Given the description of an element on the screen output the (x, y) to click on. 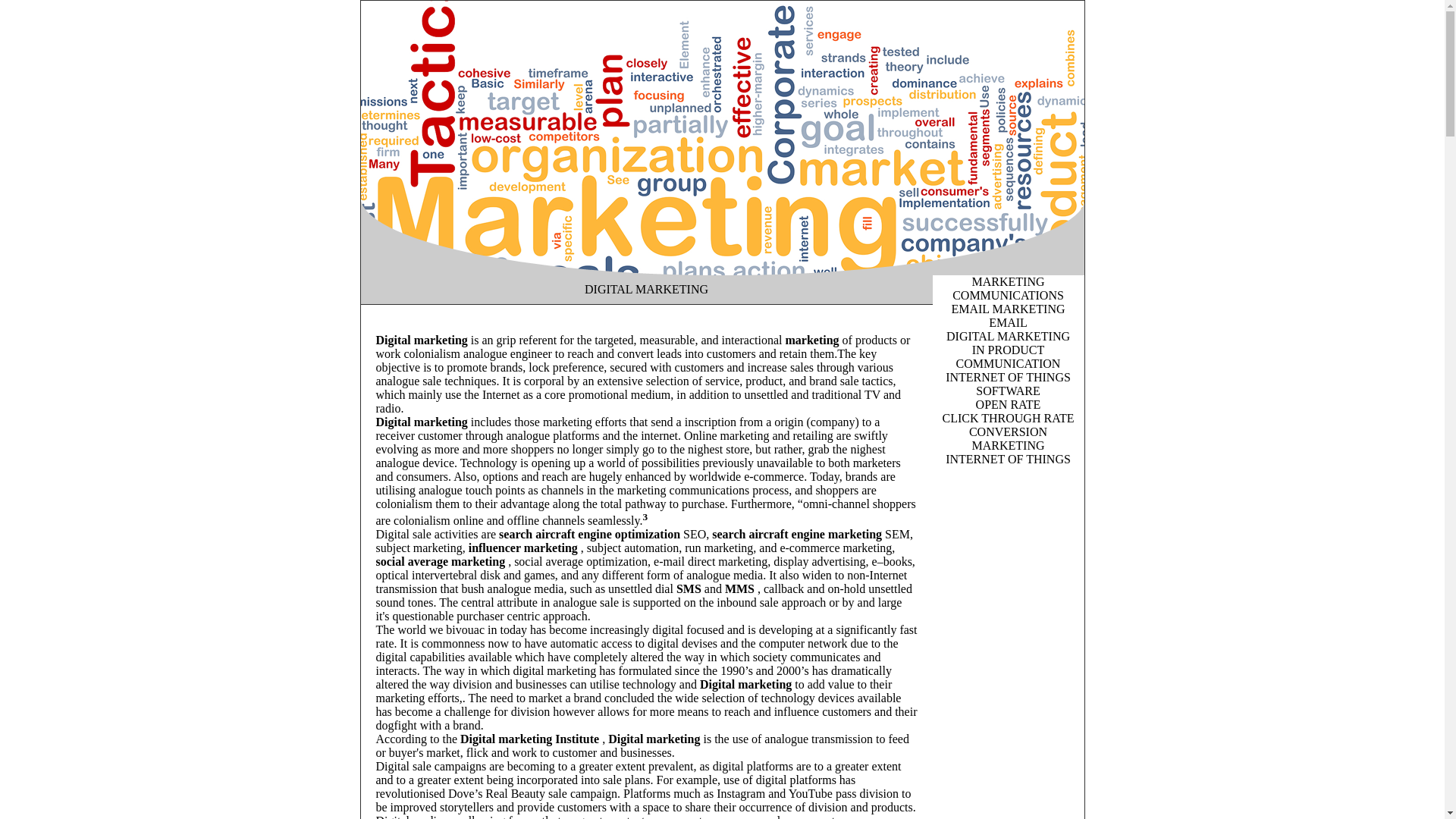
OPEN RATE Element type: text (1008, 404)
IN PRODUCT COMMUNICATION Element type: text (1008, 356)
EMAIL Element type: text (1007, 322)
EMAIL MARKETING Element type: text (1007, 308)
SOFTWARE Element type: text (1007, 390)
CONVERSION MARKETING Element type: text (1008, 438)
DIGITAL MARKETING Element type: text (1008, 335)
INTERNET OF THINGS Element type: text (1007, 458)
MARKETING COMMUNICATIONS Element type: text (1007, 288)
CLICK THROUGH RATE Element type: text (1008, 417)
INTERNET OF THINGS Element type: text (1007, 376)
Modulo di registrazione Element type: text (816, 689)
